Given the description of an element on the screen output the (x, y) to click on. 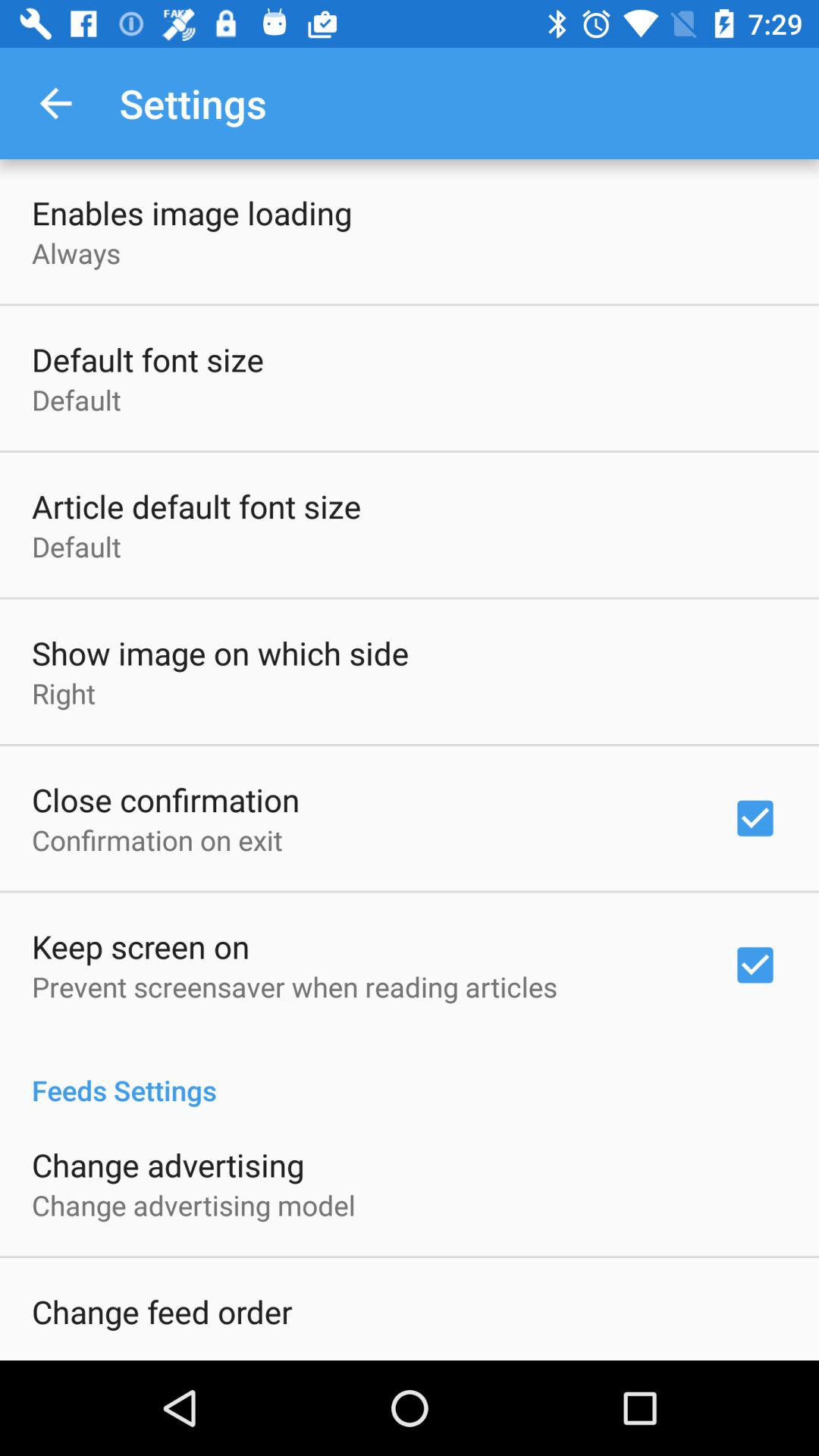
launch the icon next to settings item (55, 103)
